Given the description of an element on the screen output the (x, y) to click on. 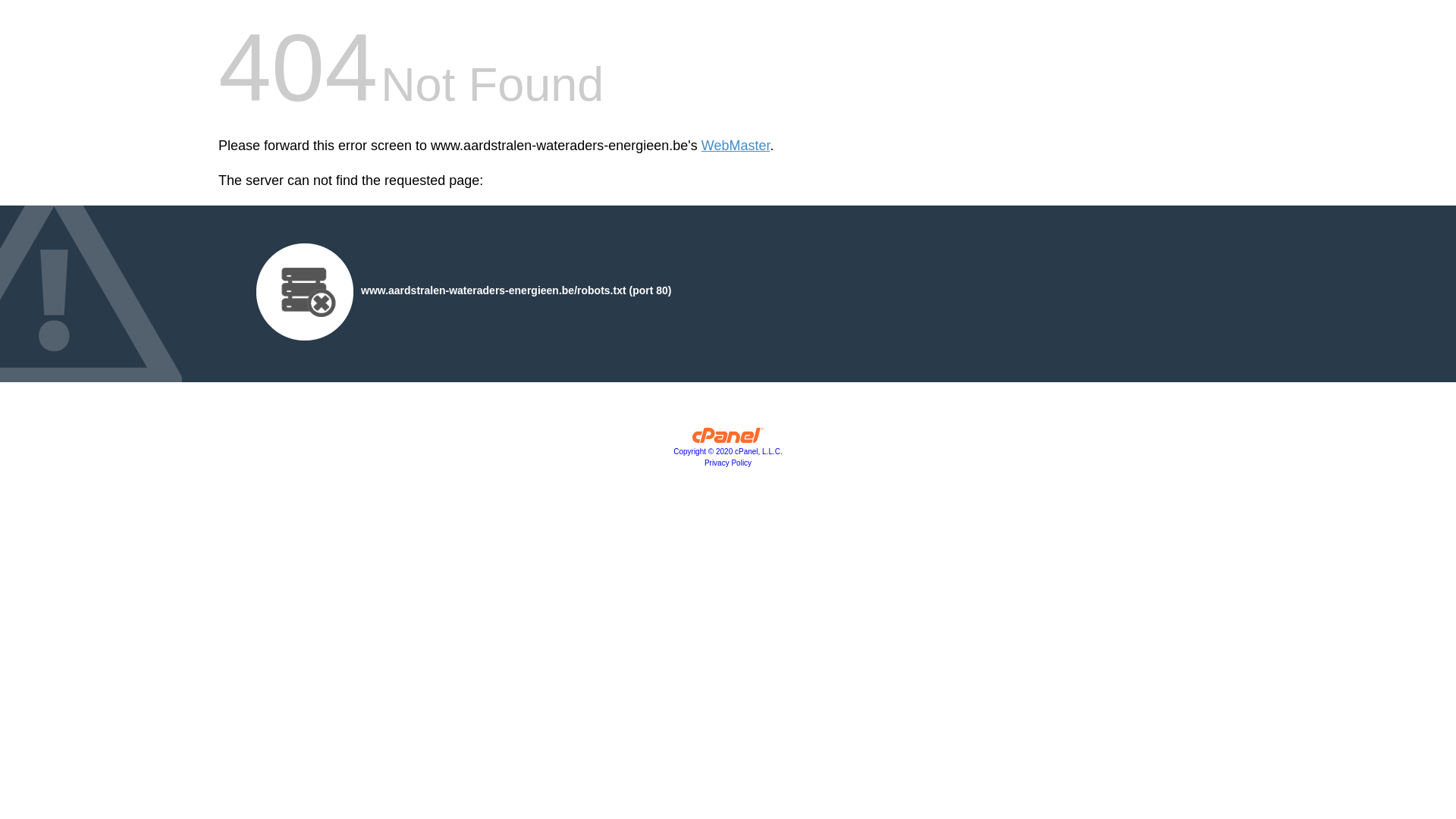
WebMaster Element type: text (735, 145)
Privacy Policy Element type: text (727, 462)
cPanel, Inc. Element type: hover (728, 439)
